Given the description of an element on the screen output the (x, y) to click on. 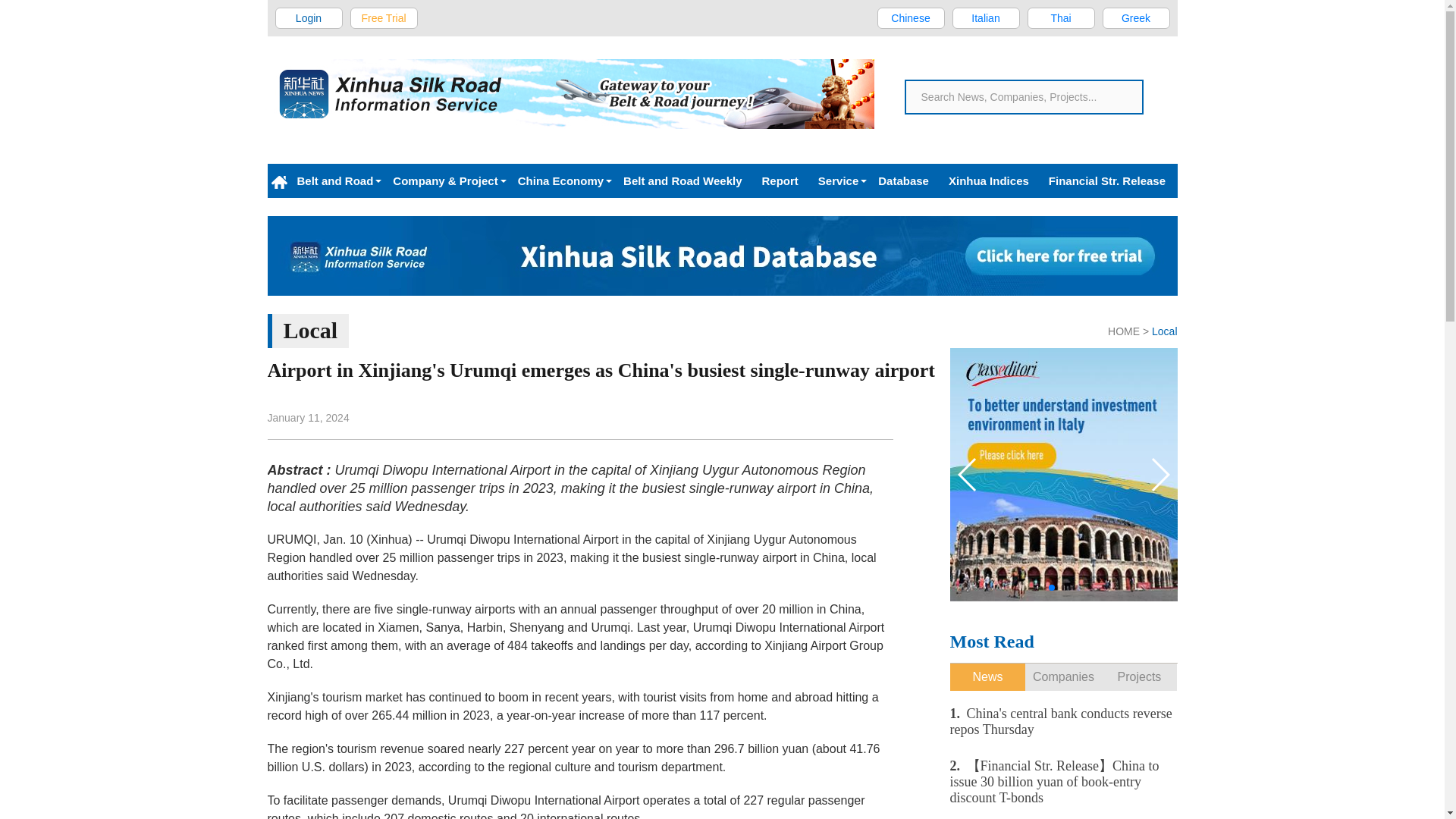
Service (837, 180)
one belt one road Free Trial (383, 17)
Thai (1060, 17)
Report (780, 180)
Belt and Road (334, 180)
Login (309, 17)
Italian (986, 17)
Xinhua Silk Road Database (721, 255)
Free Trial (383, 17)
China Economy (560, 180)
China's central bank conducts reverse repos Thursday (1062, 721)
Greek (1136, 17)
Belt and Road Weekly (681, 180)
Chinese (909, 17)
one belt one road login (309, 17)
